Given the description of an element on the screen output the (x, y) to click on. 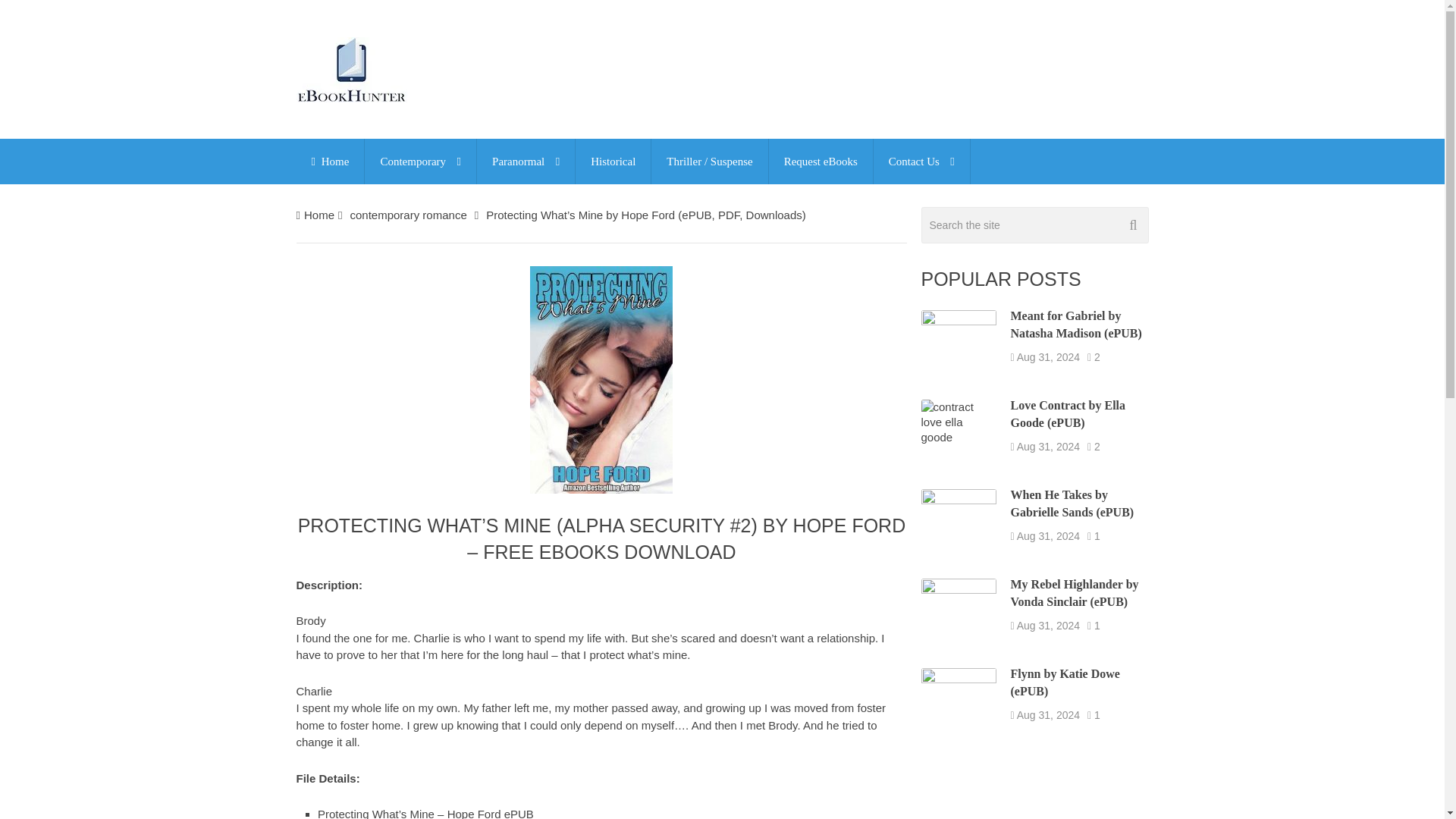
Home (329, 161)
Contact Us (921, 161)
contemporary romance (407, 214)
Contemporary (420, 161)
Historical (612, 161)
Paranormal (526, 161)
Request eBooks (820, 161)
Home (319, 214)
